Given the description of an element on the screen output the (x, y) to click on. 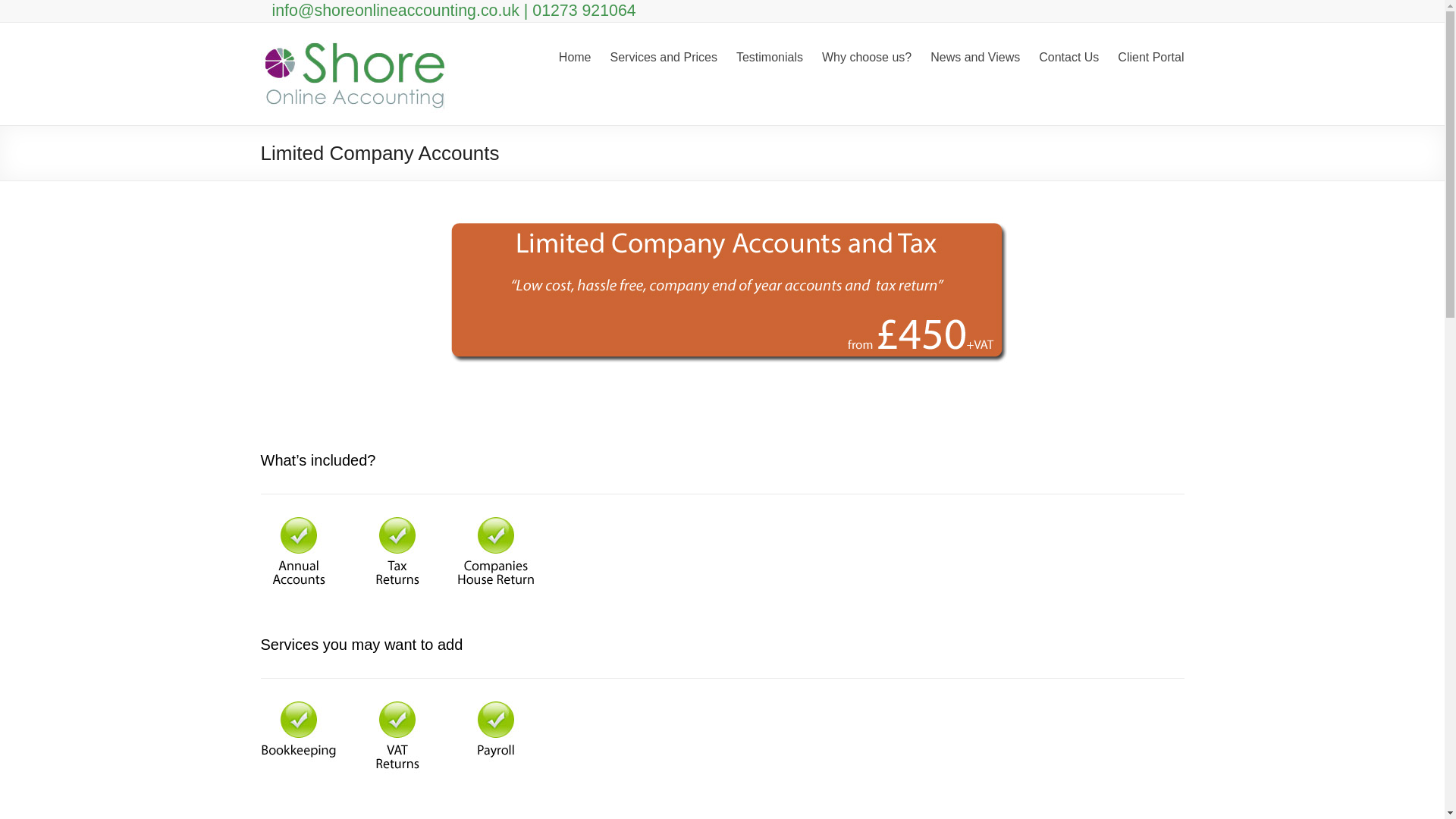
Client Portal (1150, 54)
Home (575, 54)
News and Views (975, 54)
Services and Prices (663, 54)
Why choose us? (866, 54)
Shore Online Accounting (354, 41)
Contact Us (1069, 54)
Testimonials (769, 54)
